Given the description of an element on the screen output the (x, y) to click on. 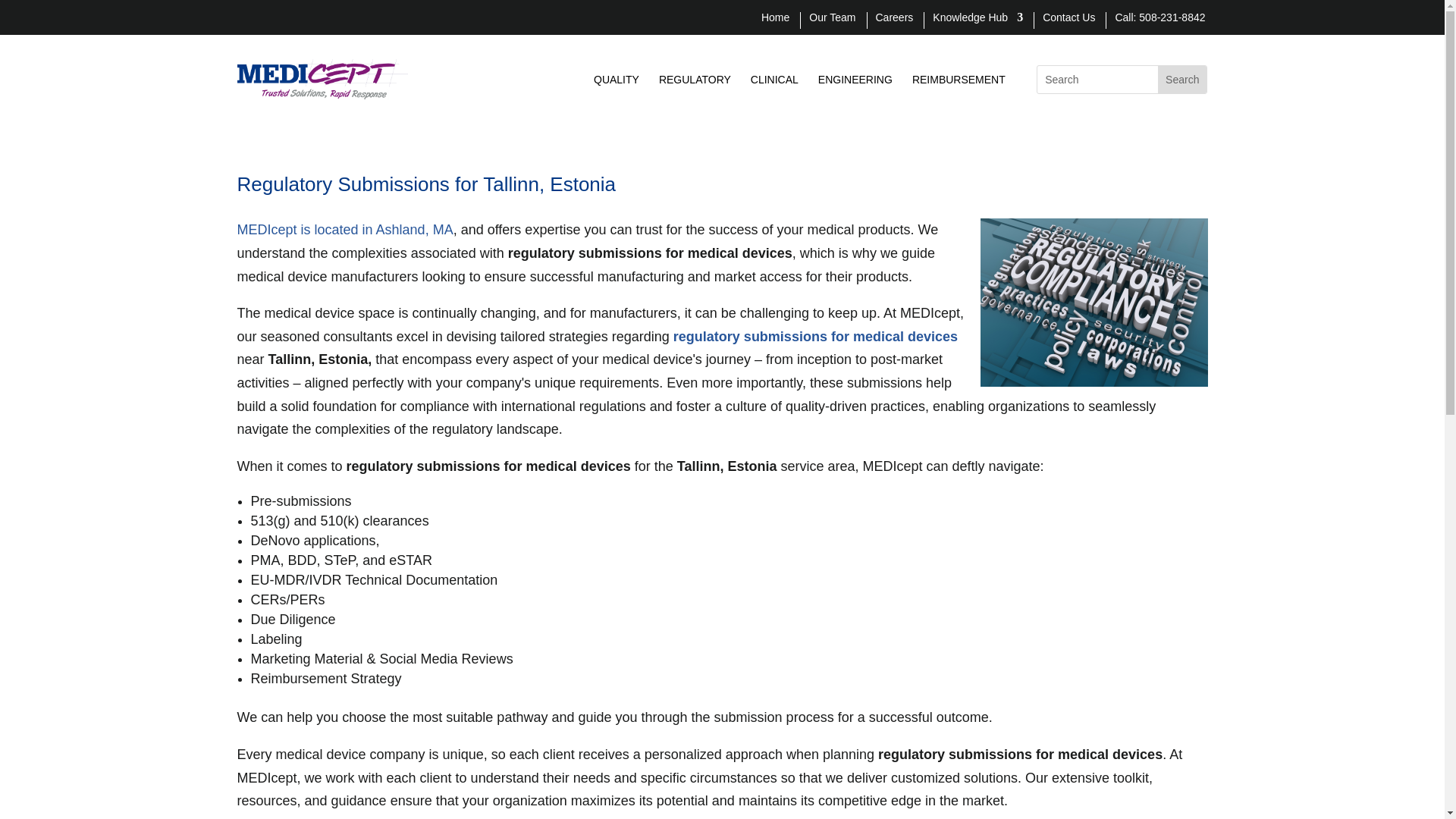
Search (1182, 79)
Search (1182, 79)
QUALITY (616, 82)
CLINICAL (774, 82)
Our Team (832, 20)
Contact Us (1068, 20)
ENGINEERING (855, 82)
REIMBURSEMENT (959, 82)
Careers (893, 20)
MEDIcept-Logo-with-Trusted-Solutions-tag-line (321, 78)
Call: 508-231-8842 (1160, 20)
Home (775, 20)
REGULATORY (694, 82)
Knowledge Hub (978, 20)
